Given the description of an element on the screen output the (x, y) to click on. 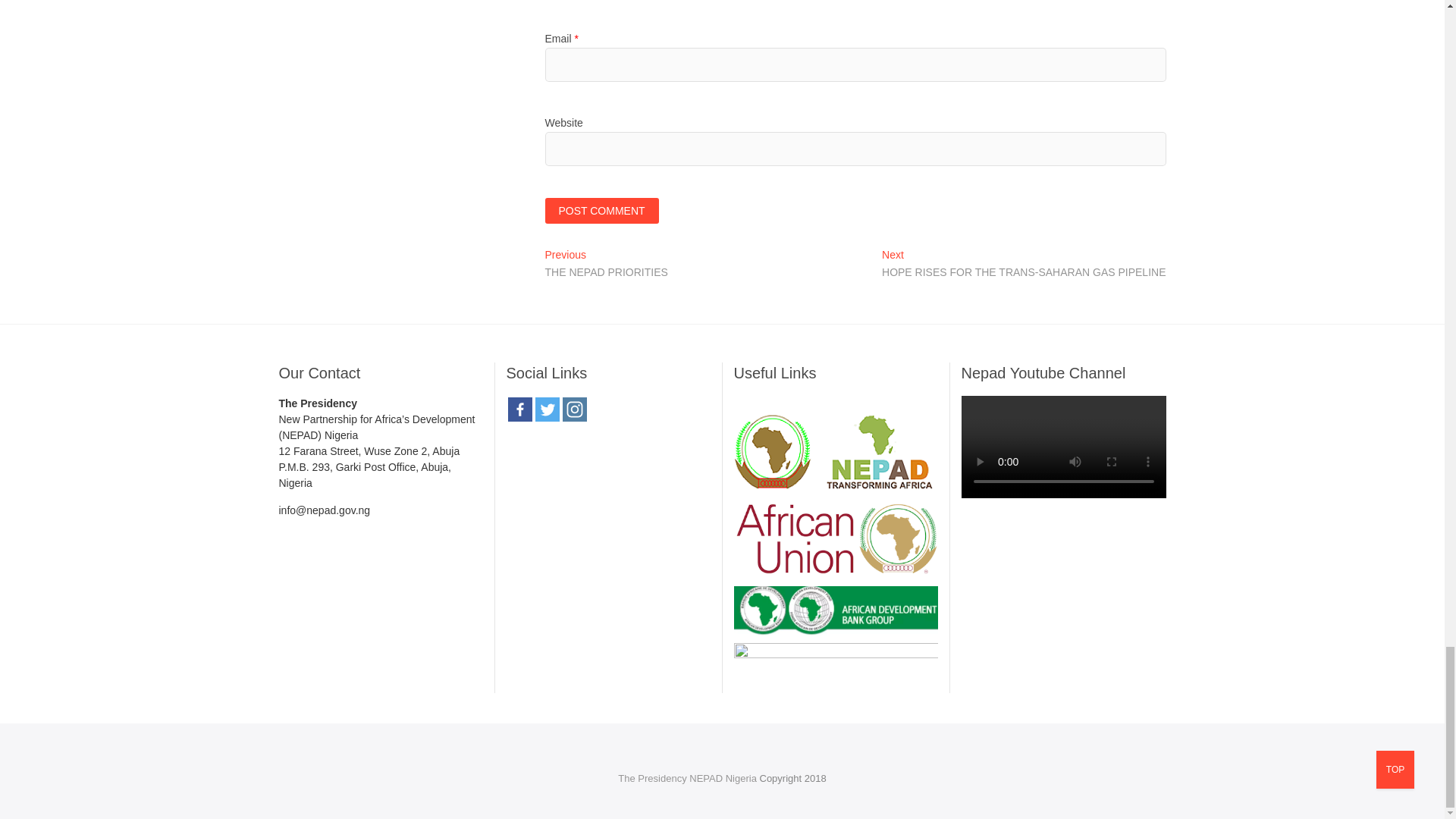
Post Comment (601, 210)
